Given the description of an element on the screen output the (x, y) to click on. 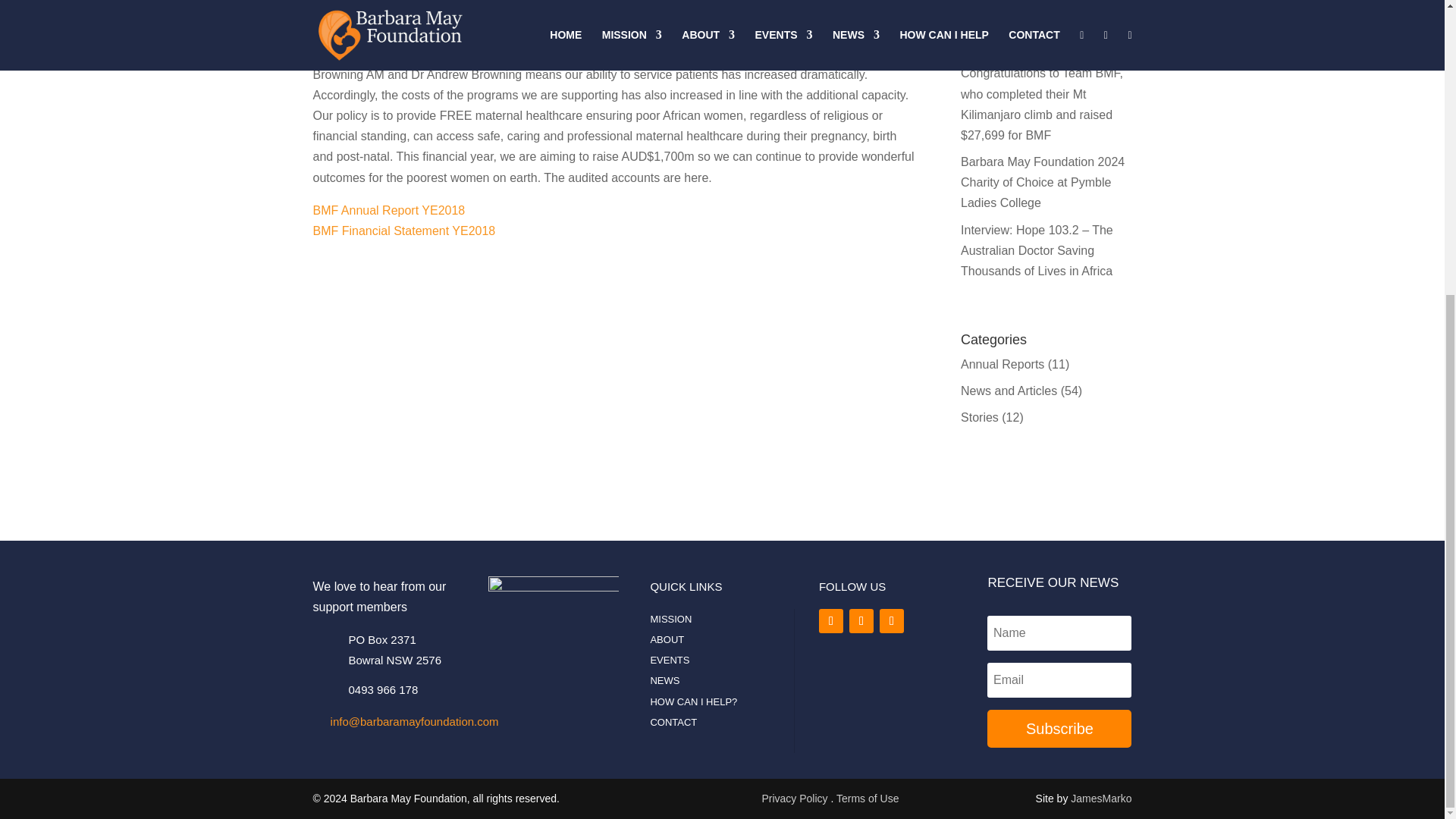
logo-excellence-giving (861, 694)
MISSION (670, 618)
Follow on Facebook (860, 621)
Stories (979, 417)
ABOUT (666, 639)
Follow on LinkedIn (830, 621)
BMF Financial Statement YE2018 (404, 230)
BMF Annual Report YE2018 (388, 210)
Follow on Instagram (891, 621)
